Given the description of an element on the screen output the (x, y) to click on. 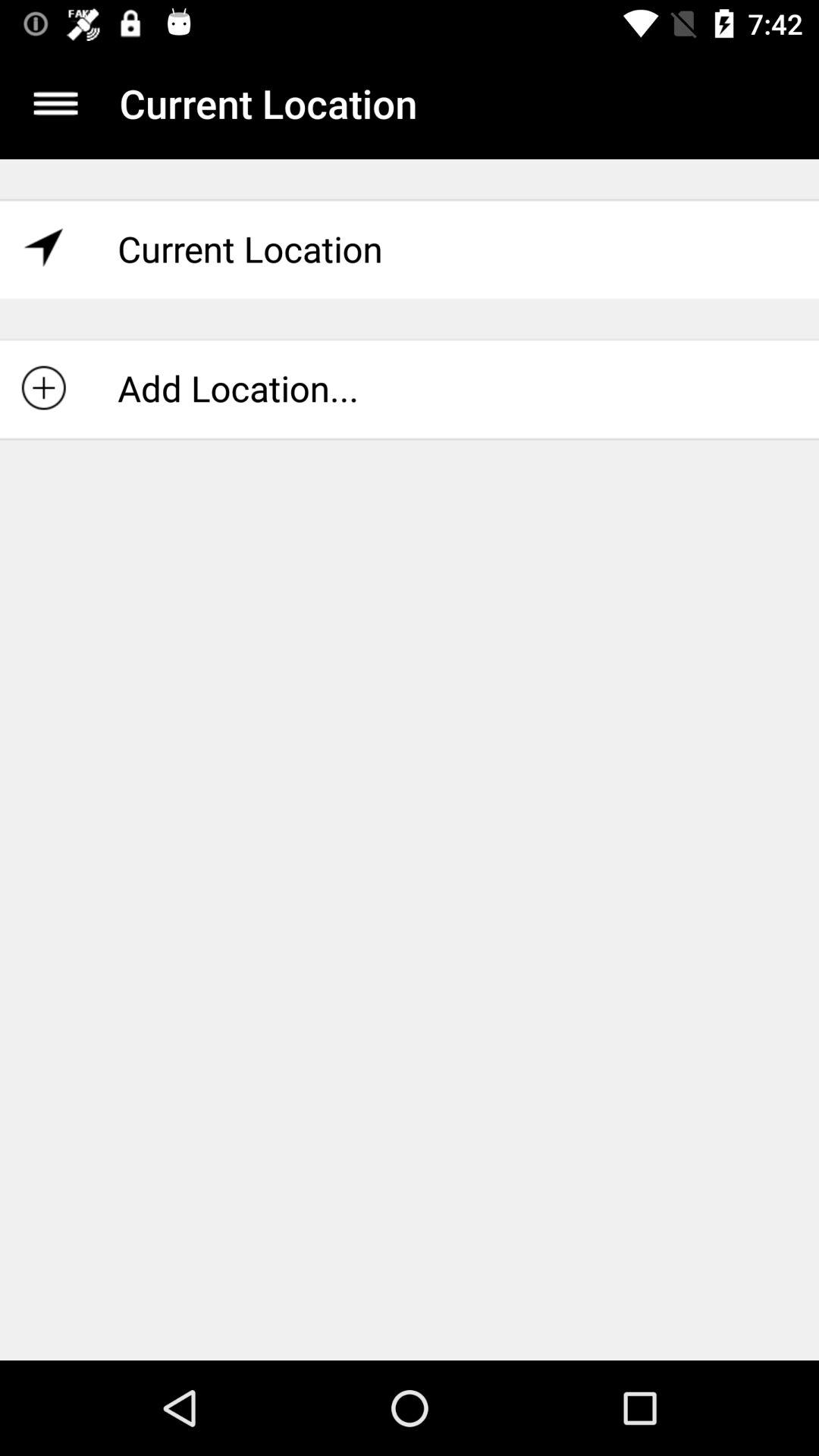
scroll to the add location... icon (409, 387)
